Given the description of an element on the screen output the (x, y) to click on. 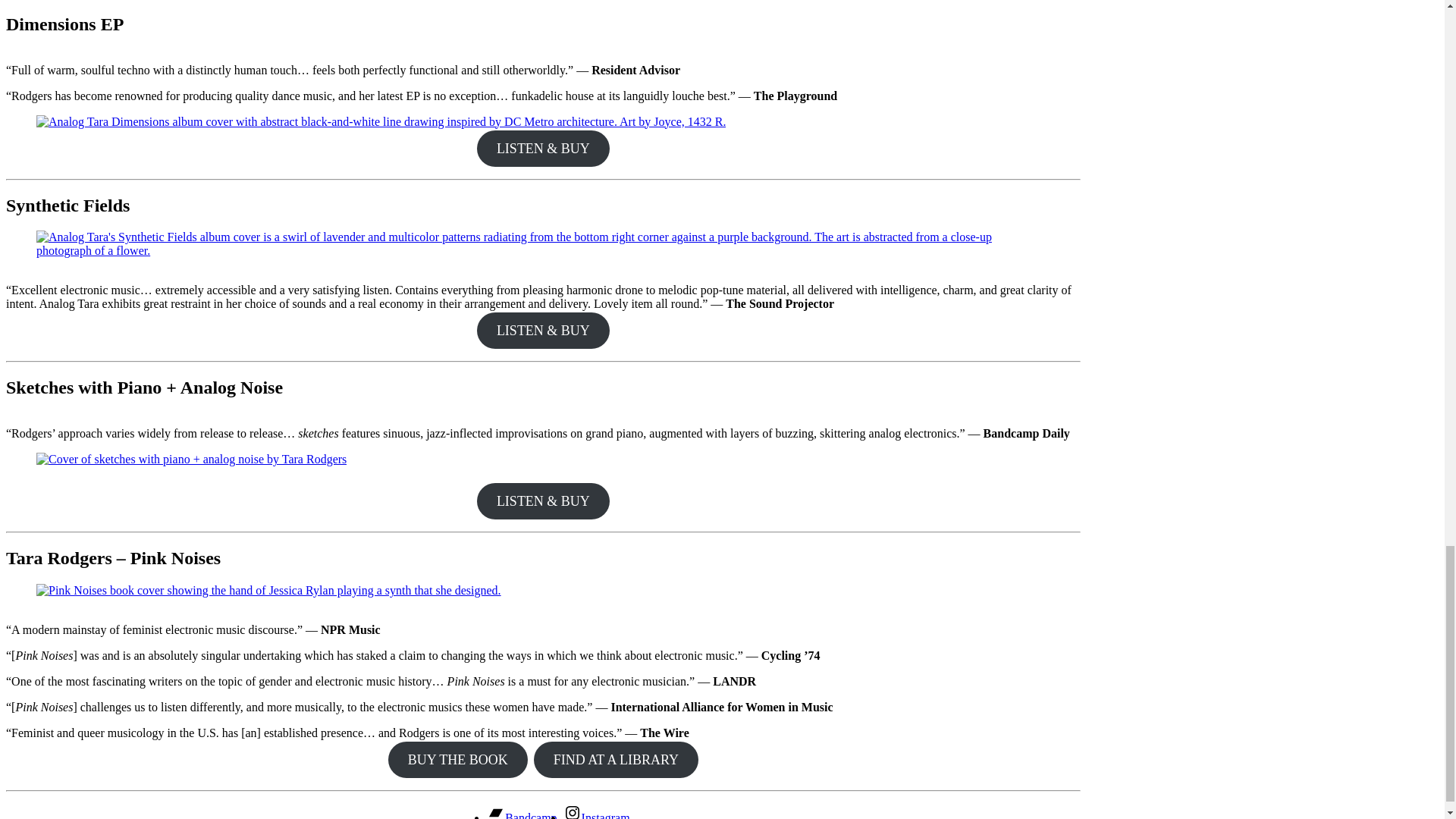
FIND AT A LIBRARY (616, 760)
BUY THE BOOK (457, 760)
